Given the description of an element on the screen output the (x, y) to click on. 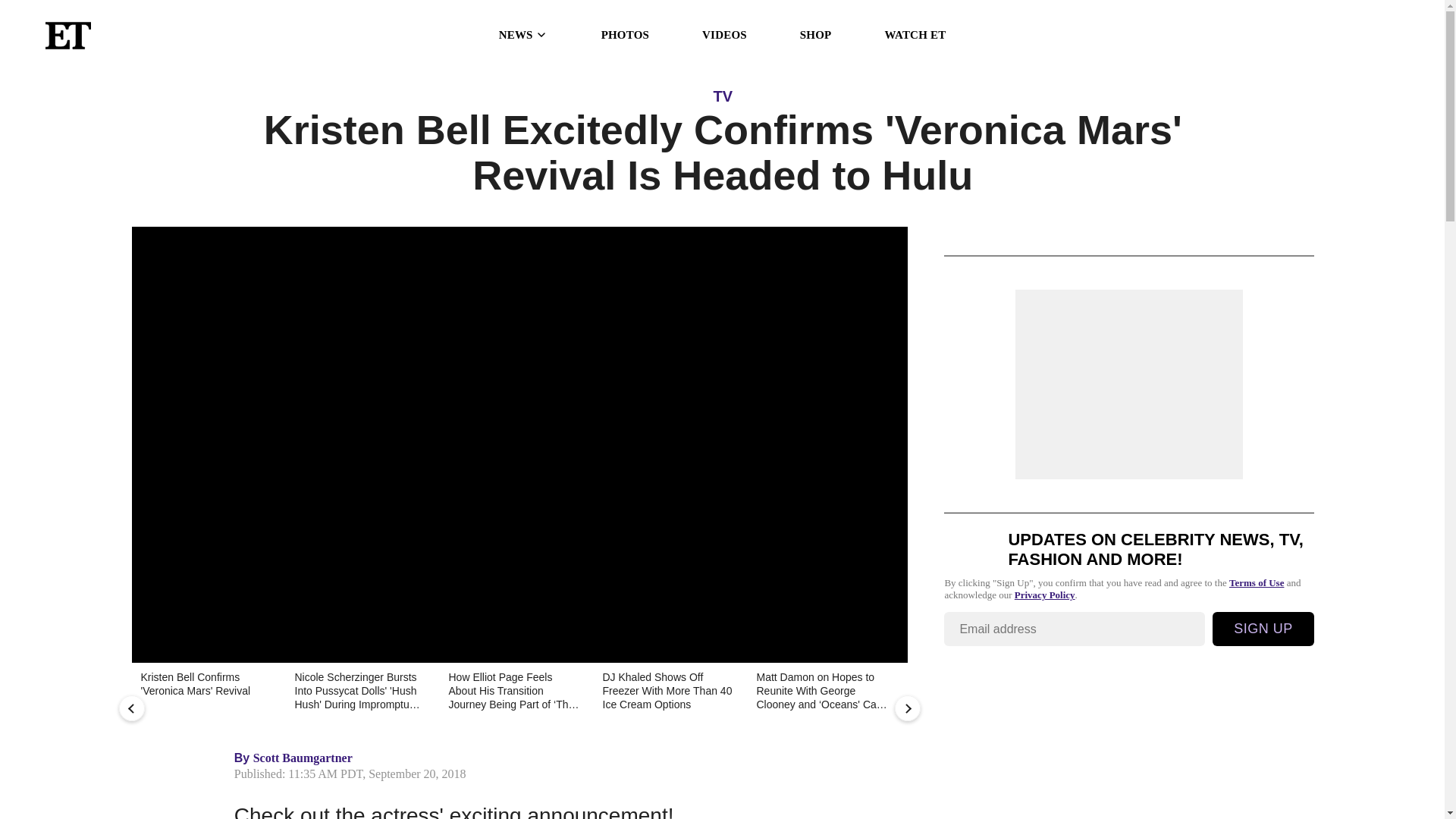
Kristen Bell Confirms 'Veronica Mars' Revival (205, 691)
PHOTOS (625, 34)
WATCH ET (913, 34)
SHOP (815, 34)
NEWS (523, 34)
TV (722, 95)
VIDEOS (723, 34)
